Given the description of an element on the screen output the (x, y) to click on. 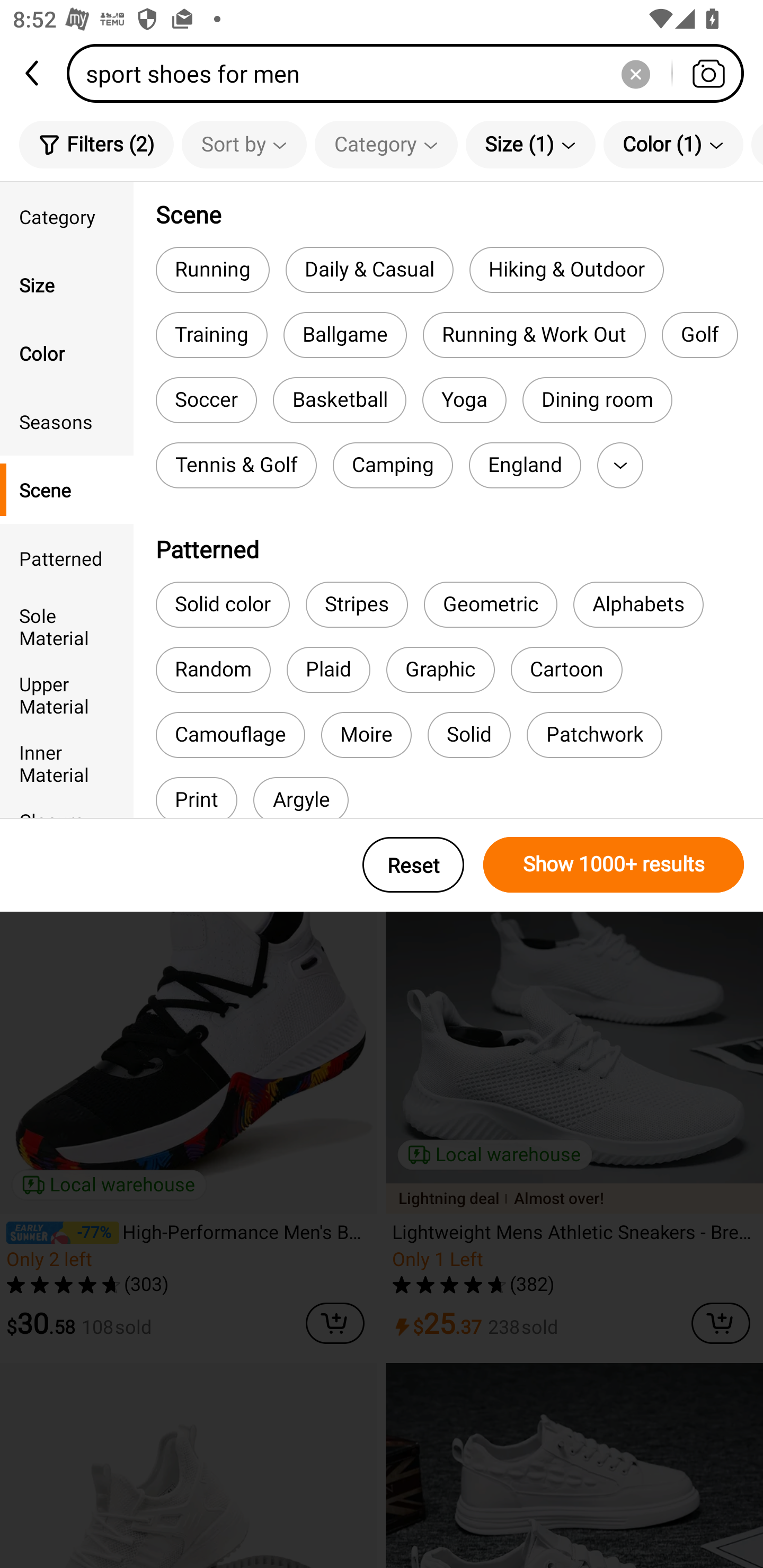
back (33, 72)
sport shoes for men (411, 73)
Delete search history (635, 73)
Search by photo (708, 73)
Filters (2) (96, 143)
Sort by (243, 143)
Category (385, 143)
Size (1) (530, 143)
Color (1) (673, 143)
Category (66, 215)
Running (212, 269)
Daily & Casual (369, 269)
Hiking & Outdoor (566, 269)
Size (66, 284)
Training (211, 334)
Ballgame (344, 334)
Running & Work Out (534, 334)
Golf (699, 334)
Color (66, 352)
Soccer (206, 400)
Basketball (339, 400)
Yoga (463, 400)
Dining room (597, 400)
Seasons (66, 421)
Tennis & Golf (235, 464)
Camping (392, 464)
England (525, 464)
More (620, 464)
Scene (66, 489)
Patterned (66, 557)
Solid color (222, 604)
Stripes (356, 604)
Geometric (490, 604)
Alphabets (638, 604)
Sole Material (66, 626)
Random (212, 669)
Plaid (328, 669)
Graphic (440, 669)
Cartoon (566, 669)
Upper Material (66, 694)
Camouflage (230, 734)
Moire (366, 734)
Solid (468, 734)
Patchwork (594, 734)
Inner Material (66, 762)
Print (196, 797)
Argyle (300, 797)
Reset (412, 864)
Show 1000+ results (612, 864)
